Given the description of an element on the screen output the (x, y) to click on. 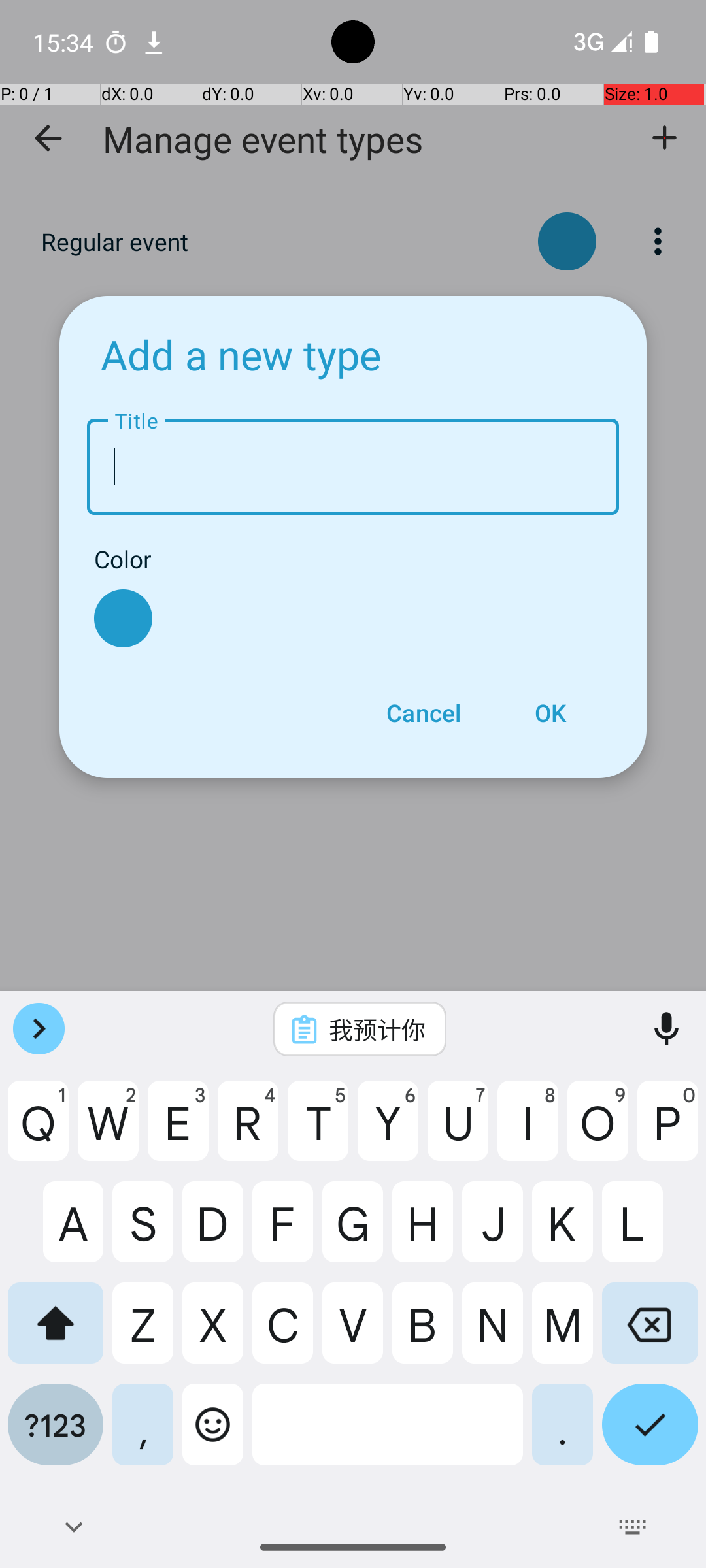
我预计你 Element type: android.widget.TextView (376, 1028)
